Given the description of an element on the screen output the (x, y) to click on. 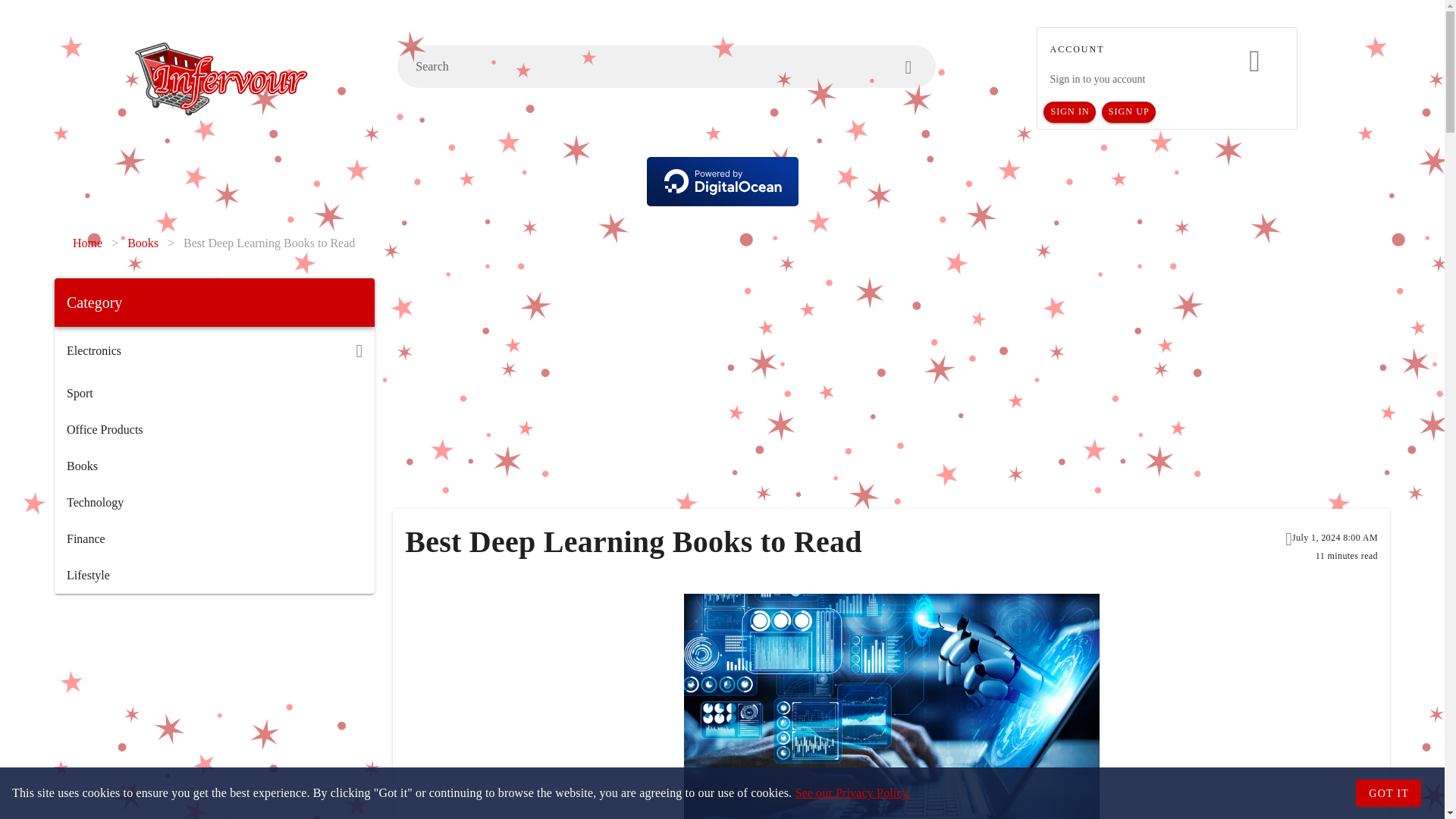
SIGN UP (1129, 111)
SIGN IN (1068, 111)
Books (143, 243)
Sport (214, 393)
Finance (214, 538)
Best Deep Learning Books to Read (269, 243)
Books (214, 465)
Home (86, 243)
Advertisement (214, 712)
Technology (214, 502)
Office Products (214, 429)
Lifestyle (214, 575)
